Given the description of an element on the screen output the (x, y) to click on. 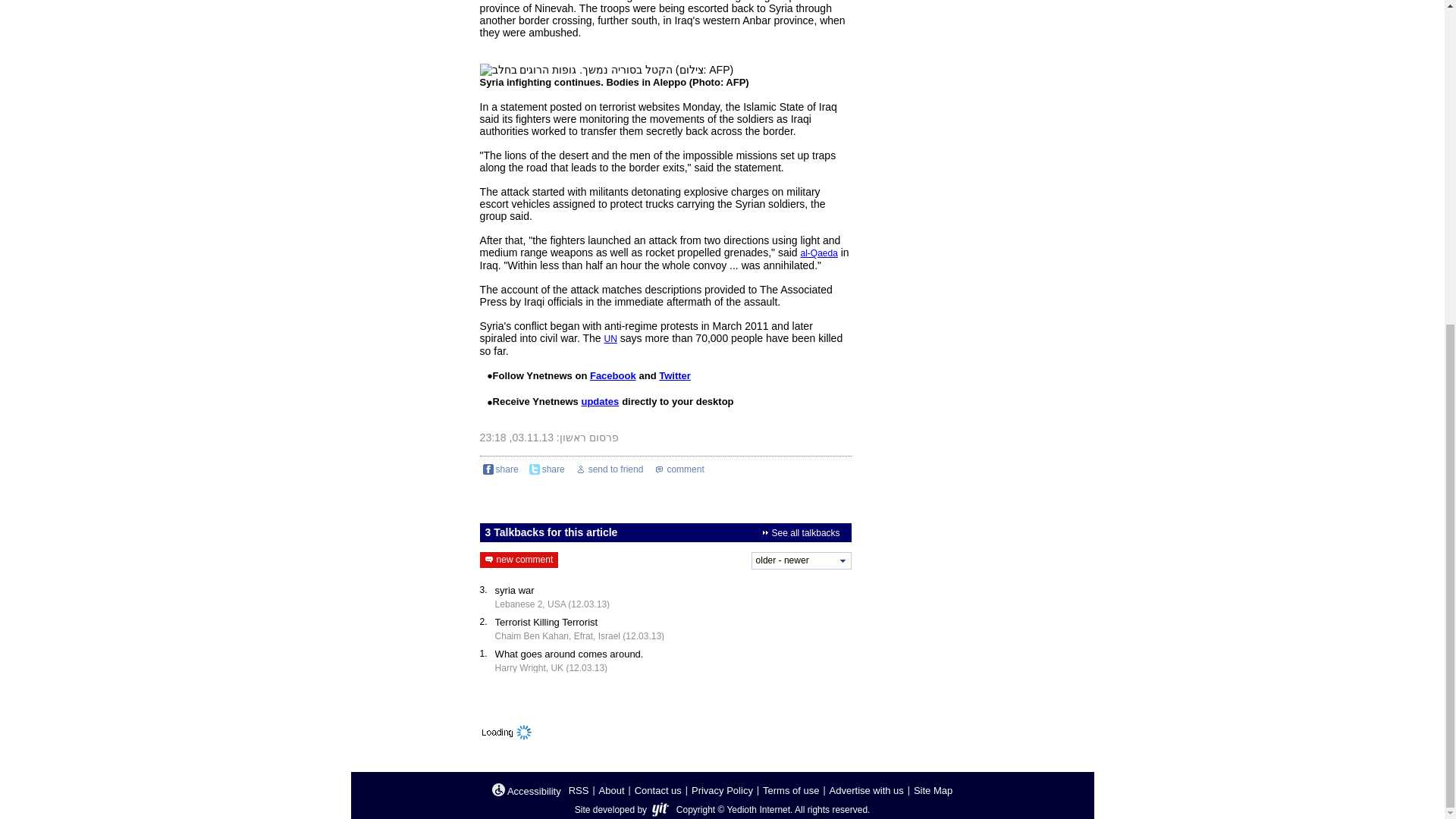
3rd party ad content (980, 164)
